Given the description of an element on the screen output the (x, y) to click on. 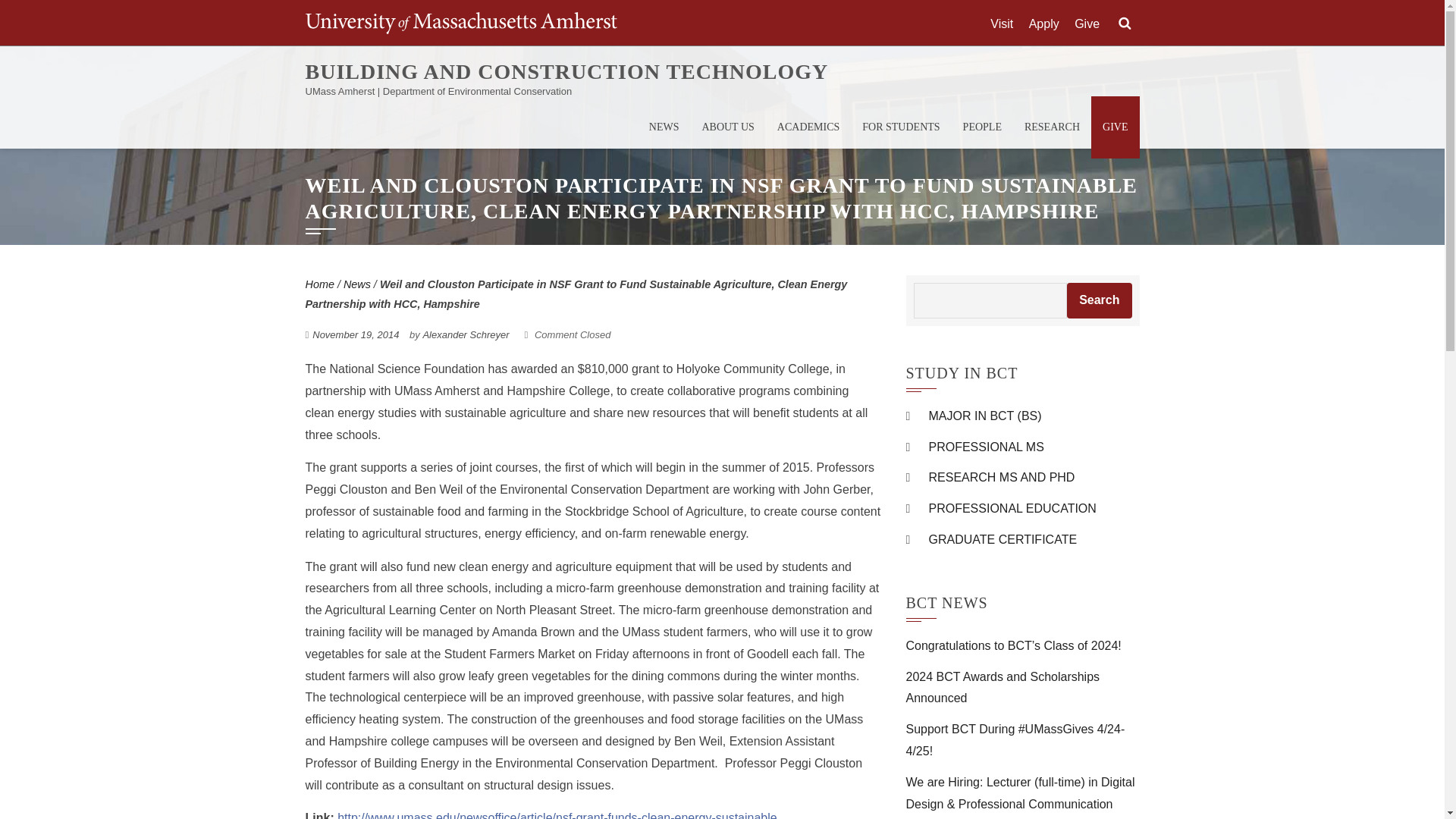
Give (1086, 24)
UMass Amherst (459, 22)
BUILDING AND CONSTRUCTION TECHNOLOGY (566, 71)
Visit (1001, 24)
ABOUT US (727, 127)
Search (1123, 23)
The University of Massachusetts Amherst (459, 22)
Search (1099, 300)
Apply (1044, 24)
